Given the description of an element on the screen output the (x, y) to click on. 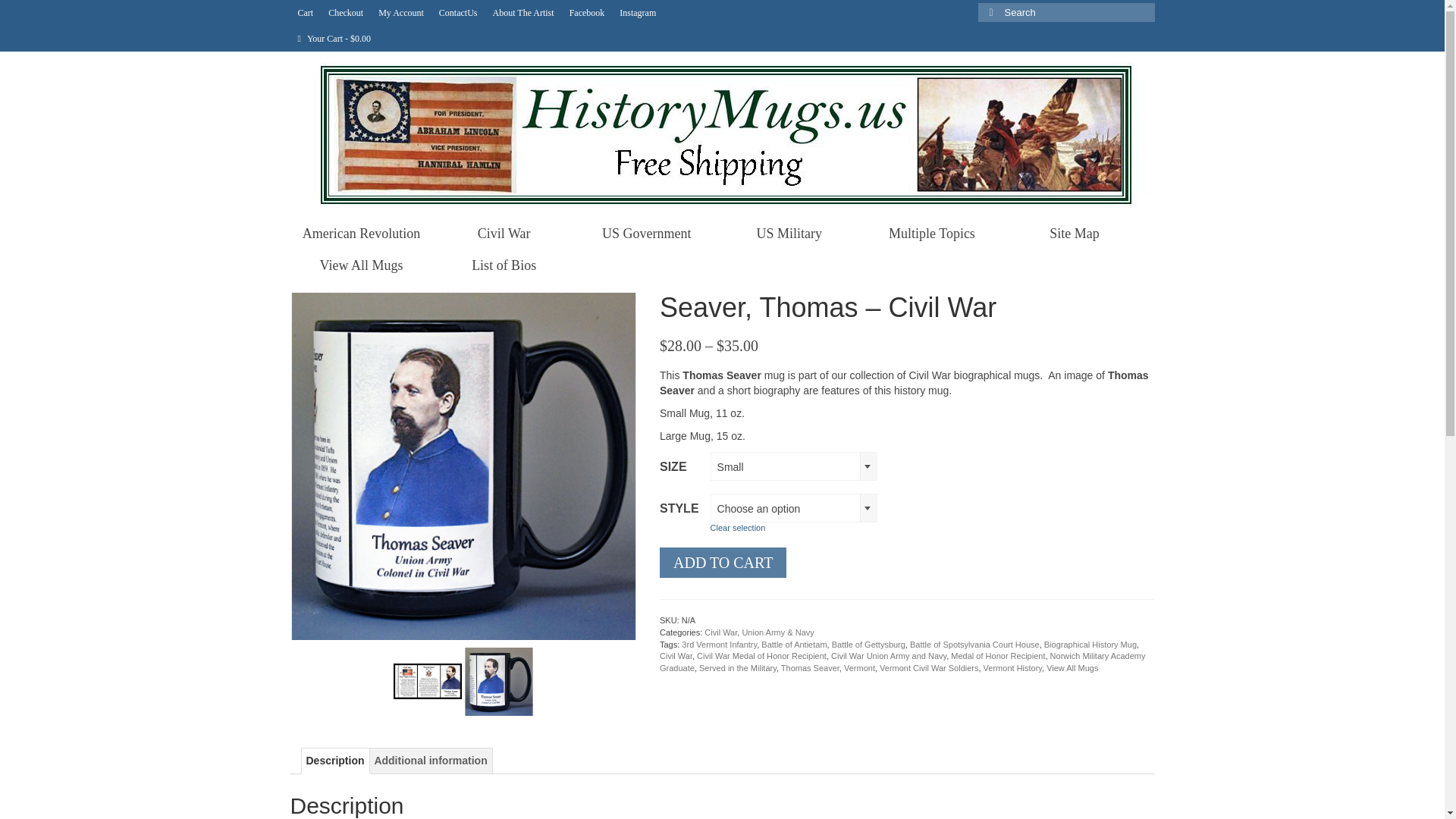
Checkout (345, 12)
ContactUs (457, 12)
US Military (788, 233)
Facebook (587, 12)
US Government (646, 233)
Civil War (503, 233)
Choose an option (793, 508)
Instagram (637, 12)
Multiple Topics (931, 233)
American Revolution (360, 233)
View All Mugs (360, 265)
List of Bios (503, 265)
About The Artist (523, 12)
